Given the description of an element on the screen output the (x, y) to click on. 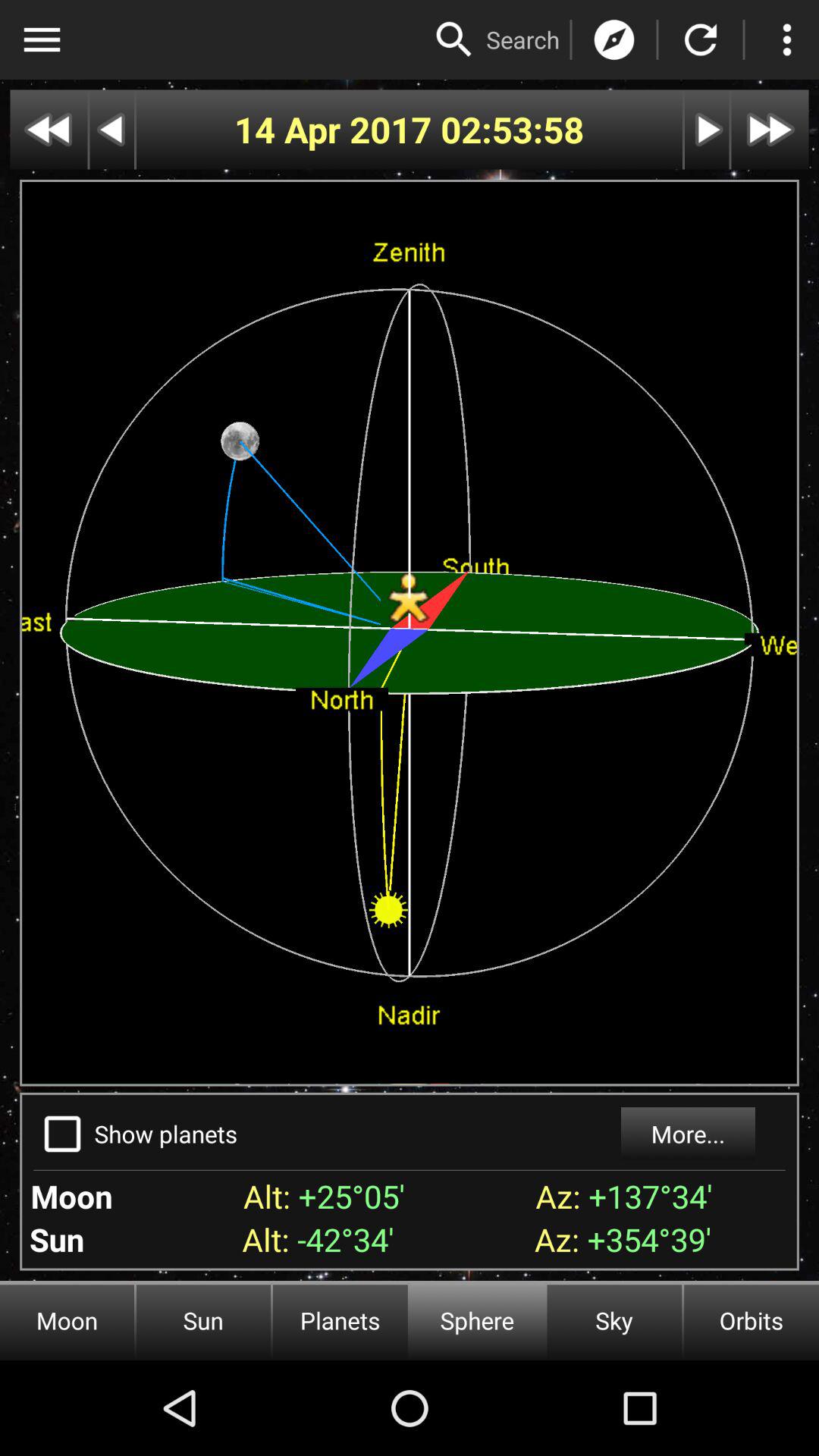
show menu (41, 39)
